Given the description of an element on the screen output the (x, y) to click on. 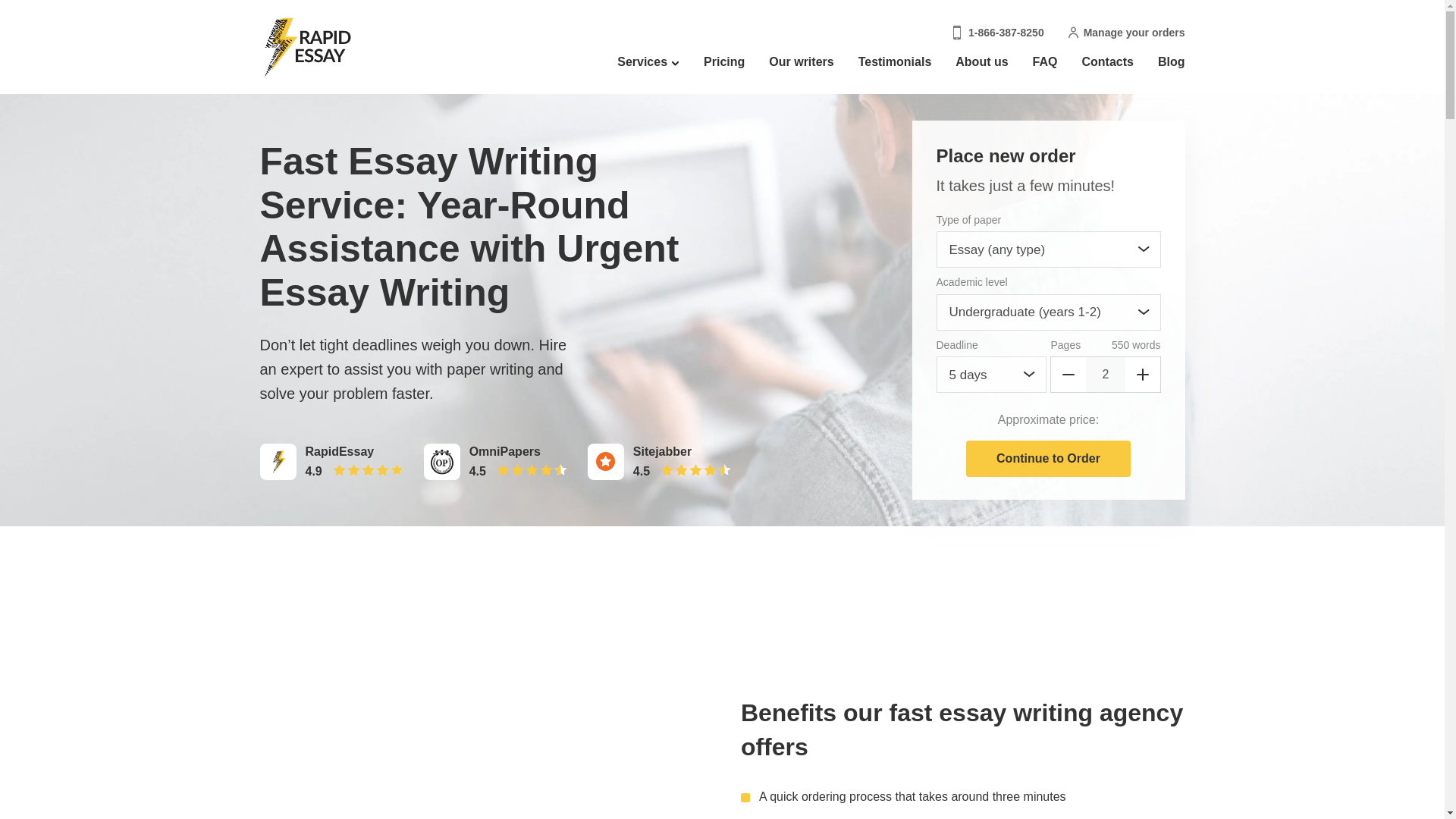
Testimonials (895, 62)
1-866-387-8250 (998, 32)
2 (1104, 374)
Blog (1171, 62)
Continue to Order (1048, 457)
Order paper (1048, 457)
Our writers (800, 62)
Contacts (1106, 62)
Manage your orders (1126, 32)
Pricing (723, 62)
About us (981, 62)
FAQ (1045, 62)
